Given the description of an element on the screen output the (x, y) to click on. 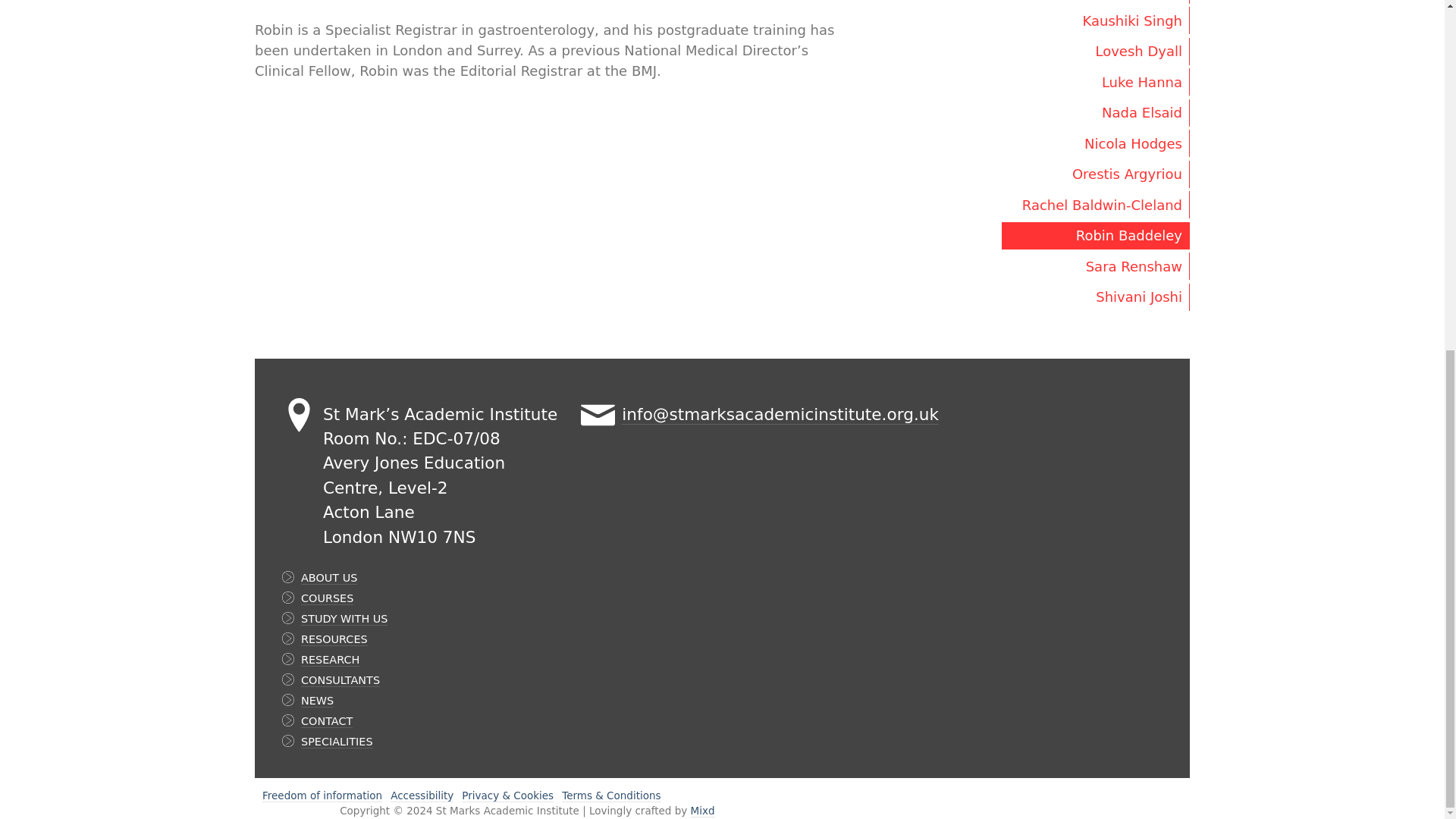
Rachel Baldwin-Cleland (1095, 204)
Nada Elsaid (1095, 112)
Orestis Argyriou (1095, 174)
Kaushiki Singh (1095, 20)
Lovesh Dyall (1095, 51)
Jennifer Fisher (1095, 2)
Luke Hanna (1095, 81)
Robin Baddeley (1095, 235)
Nicola Hodges (1095, 143)
Sara Renshaw (1095, 266)
